Given the description of an element on the screen output the (x, y) to click on. 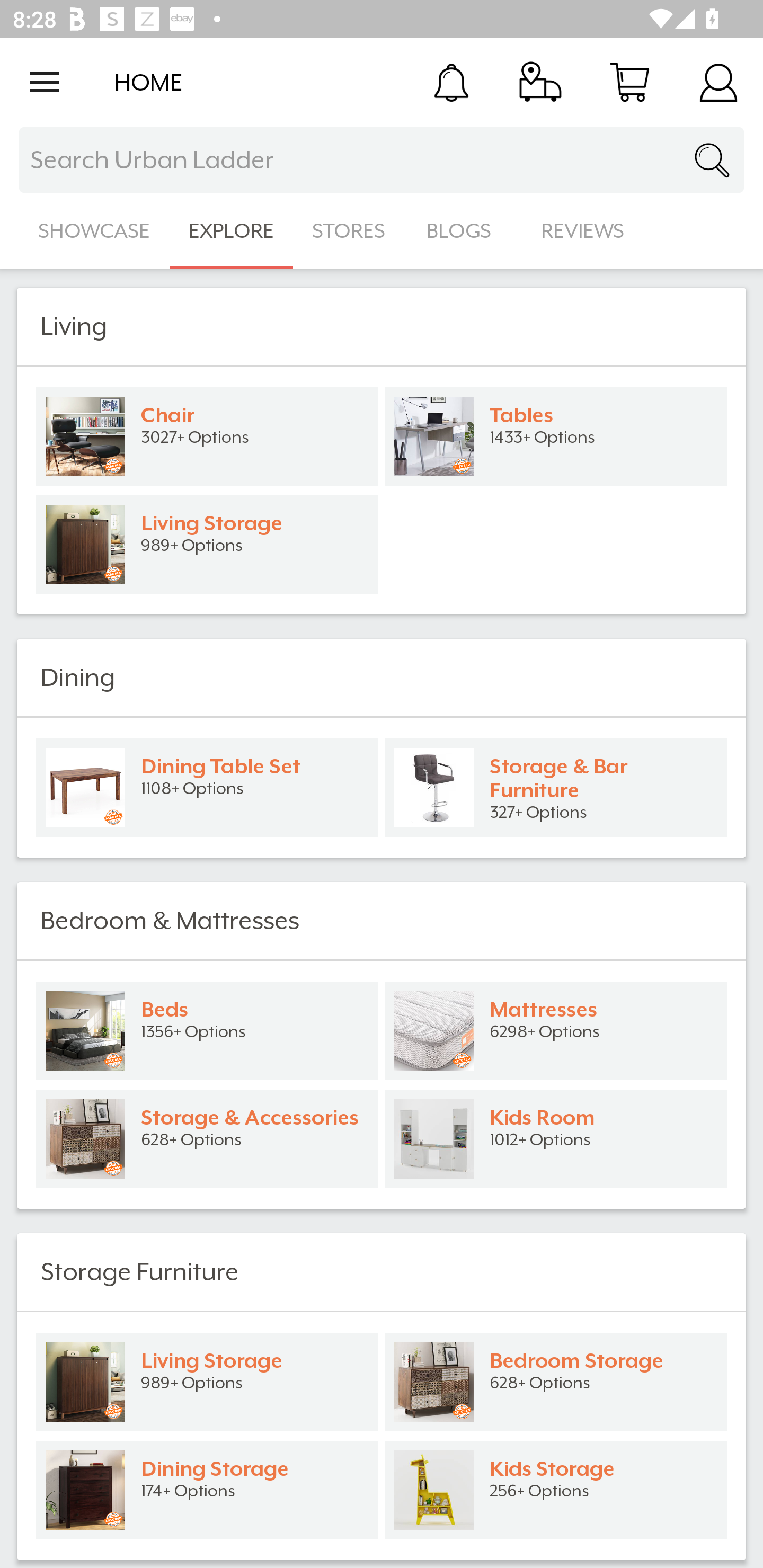
Open navigation drawer (44, 82)
Notification (450, 81)
Track Order (540, 81)
Cart (629, 81)
Account Details (718, 81)
Search Urban Ladder  (381, 159)
SHOWCASE (94, 230)
EXPLORE (230, 230)
STORES (349, 230)
BLOGS (464, 230)
REVIEWS (582, 230)
Chair 3027+ Options (206, 436)
Tables 1433+ Options (555, 436)
Living Storage 989+ Options (206, 544)
Dining Table Set 1108+ Options (206, 787)
Storage & Bar Furniture 327+ Options (555, 787)
Beds 1356+ Options (206, 1030)
Mattresses 6298+ Options (555, 1030)
Storage & Accessories 628+ Options (206, 1139)
Kids Room 1012+ Options (555, 1139)
Living Storage 989+ Options (206, 1382)
Bedroom Storage 628+ Options (555, 1382)
Dining Storage 174+ Options (206, 1490)
Kids Storage 256+ Options (555, 1490)
